Given the description of an element on the screen output the (x, y) to click on. 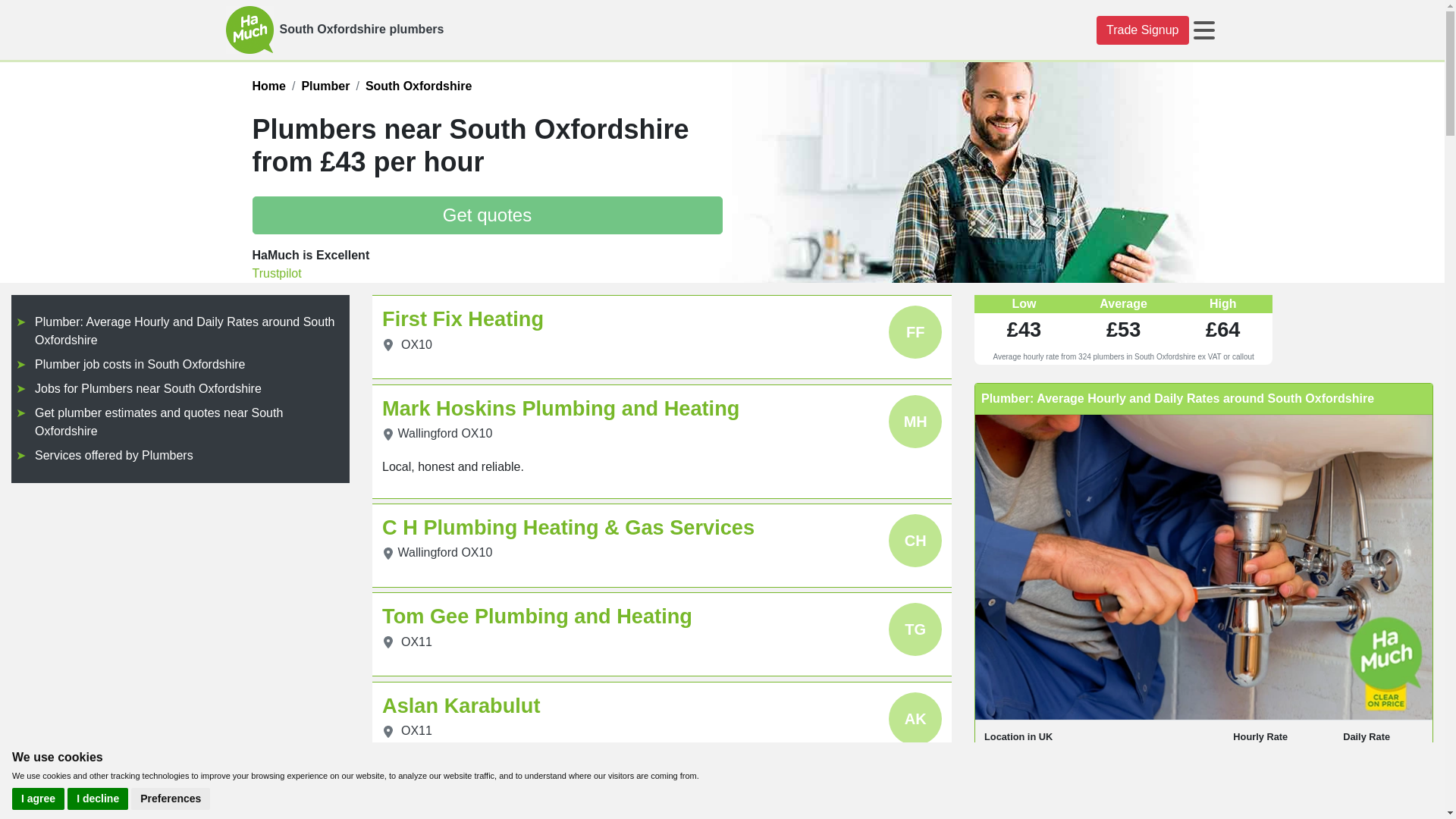
Mark Hoskins Plumbing and Heating (560, 408)
Find affordable Plumbers near South Oxfordshire (418, 85)
Jobs for Plumbers near South Oxfordshire (148, 388)
Plumber (325, 85)
Wallingford OX10 (444, 552)
I agree (37, 798)
Find affordable local tradesmen (268, 85)
First Fix Heating (462, 318)
Get plumber estimates and quotes near South Oxfordshire (158, 421)
I decline (97, 798)
